Given the description of an element on the screen output the (x, y) to click on. 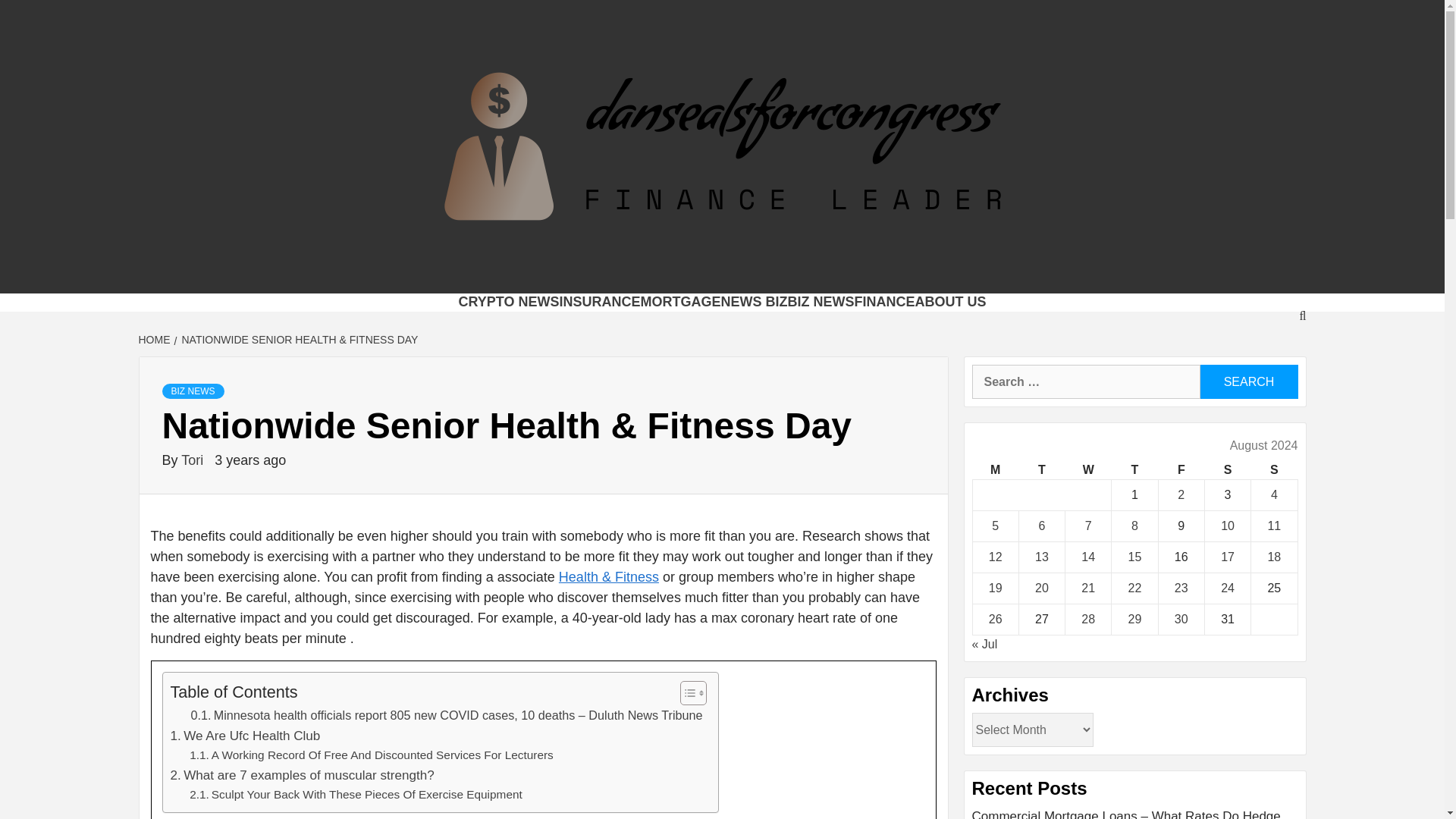
ABOUT US (951, 301)
Wednesday (1088, 470)
DANSEALSFORCONGRESS (647, 273)
What are 7 examples of muscular strength? (301, 774)
BIZ NEWS (820, 301)
Saturday (1227, 470)
NEWS BIZ (753, 301)
CRYPTO NEWS (508, 301)
INSURANCE (599, 301)
